Given the description of an element on the screen output the (x, y) to click on. 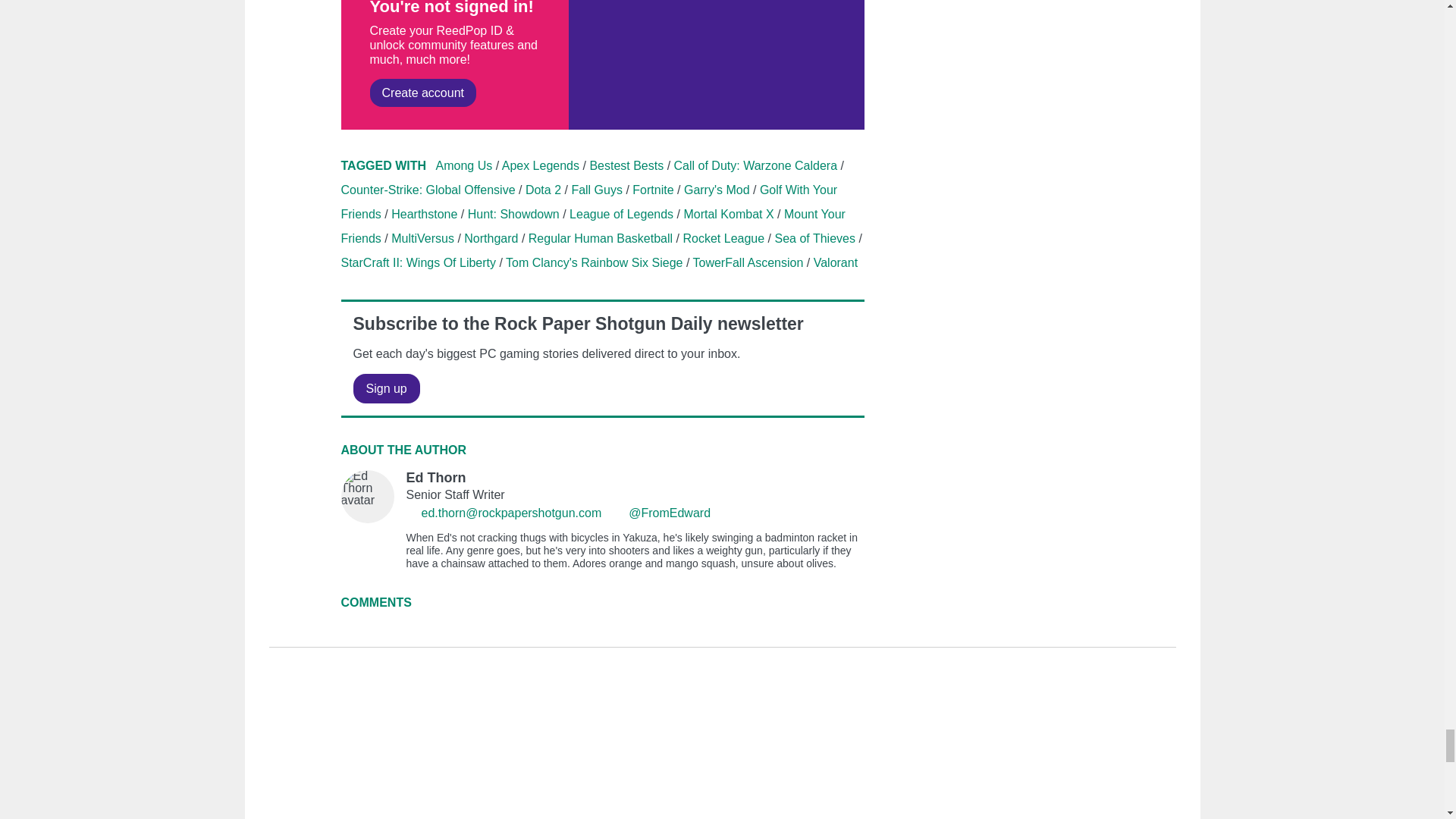
Follow Ed Thorn on Twitter (619, 512)
Ed Thorn (602, 520)
Follow Ed Thorn on email (412, 512)
